Given the description of an element on the screen output the (x, y) to click on. 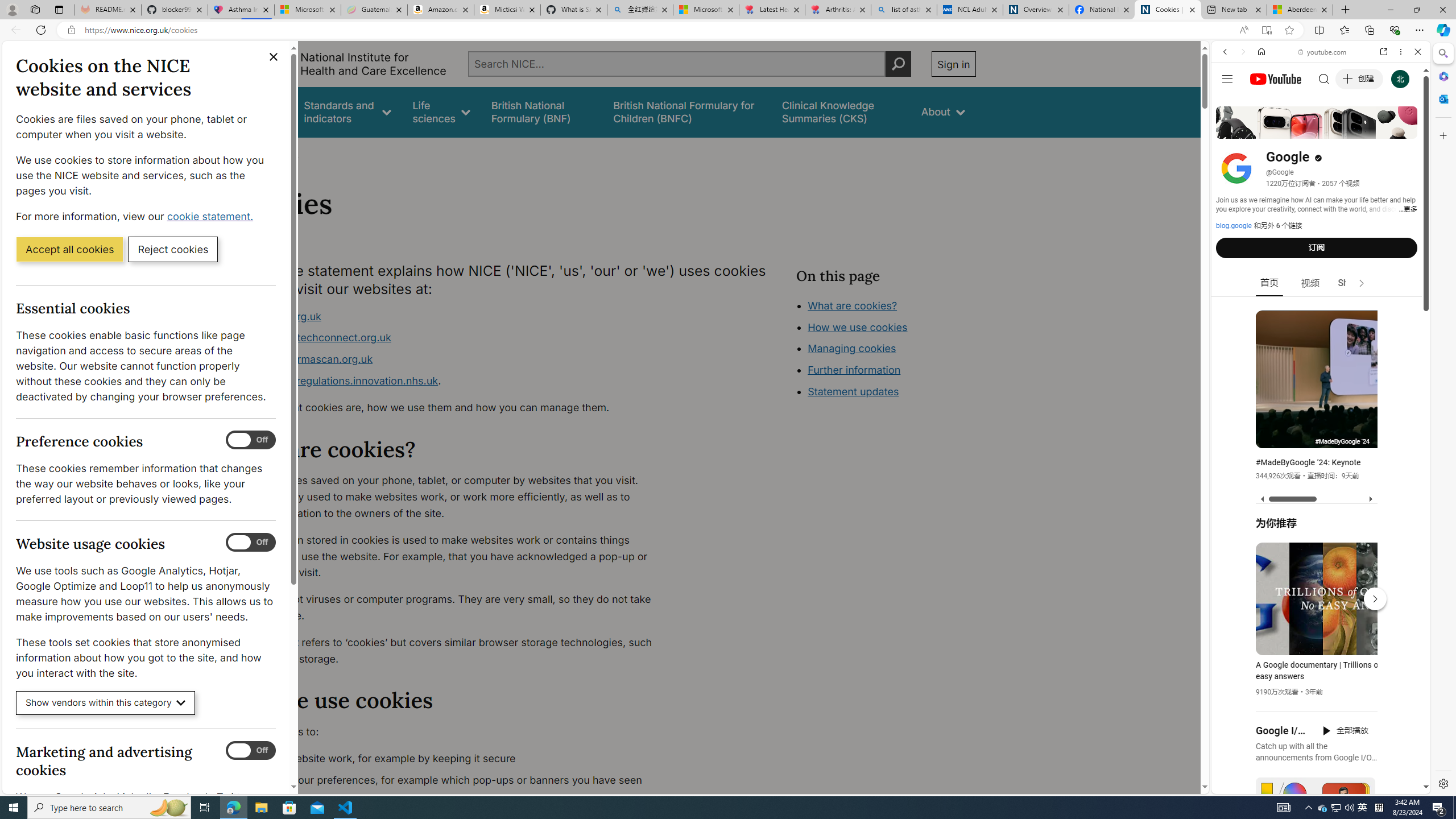
list of asthma inhalers uk - Search (904, 9)
Further information (854, 369)
Guidance (260, 111)
Search Filter, VIDEOS (1300, 129)
Aberdeen, Hong Kong SAR hourly forecast | Microsoft Weather (1300, 9)
Class: dict_pnIcon rms_img (1312, 784)
